Given the description of an element on the screen output the (x, y) to click on. 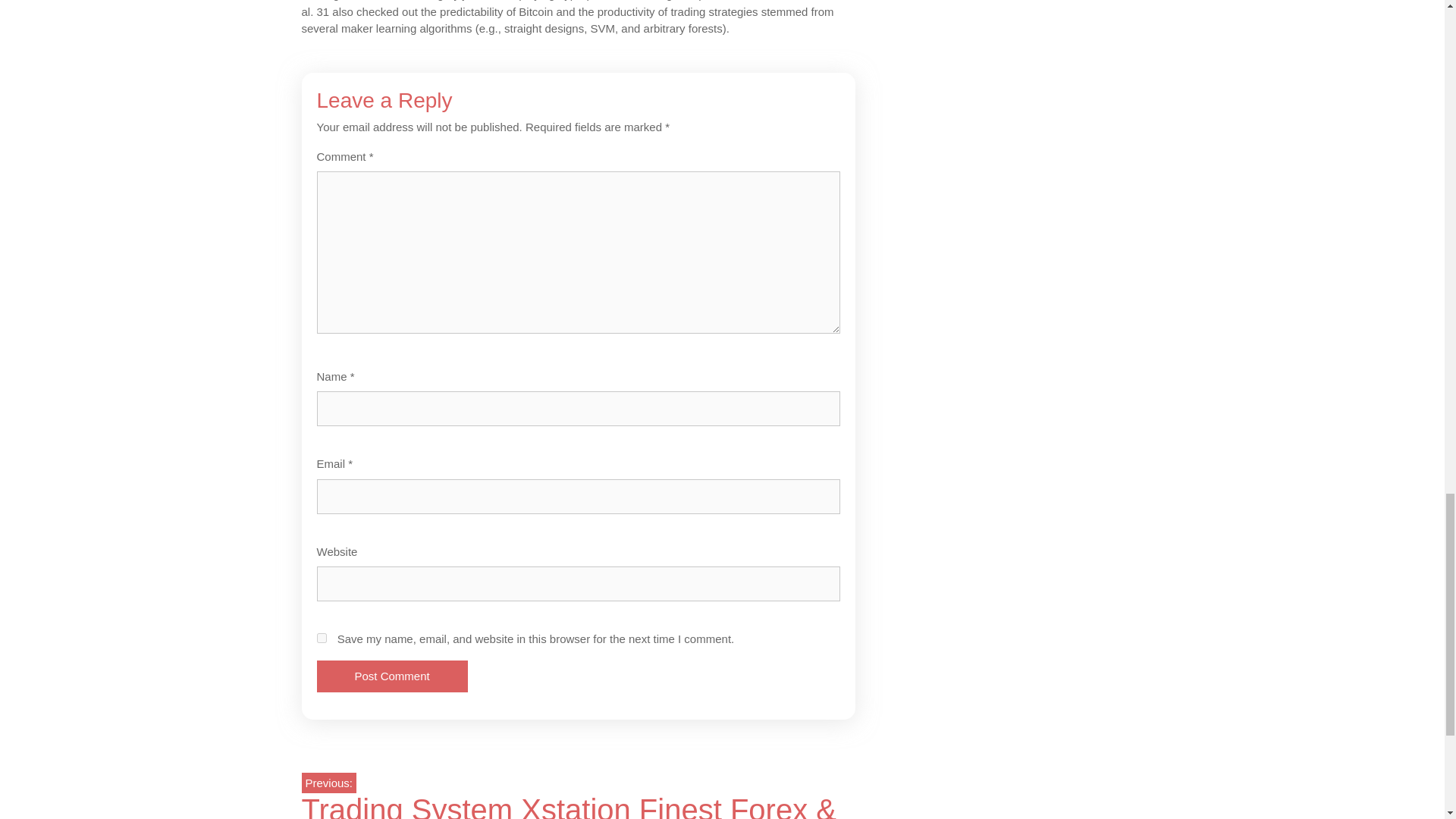
yes (321, 637)
Post Comment (392, 676)
Post Comment (392, 676)
forex robot (805, 0)
